Given the description of an element on the screen output the (x, y) to click on. 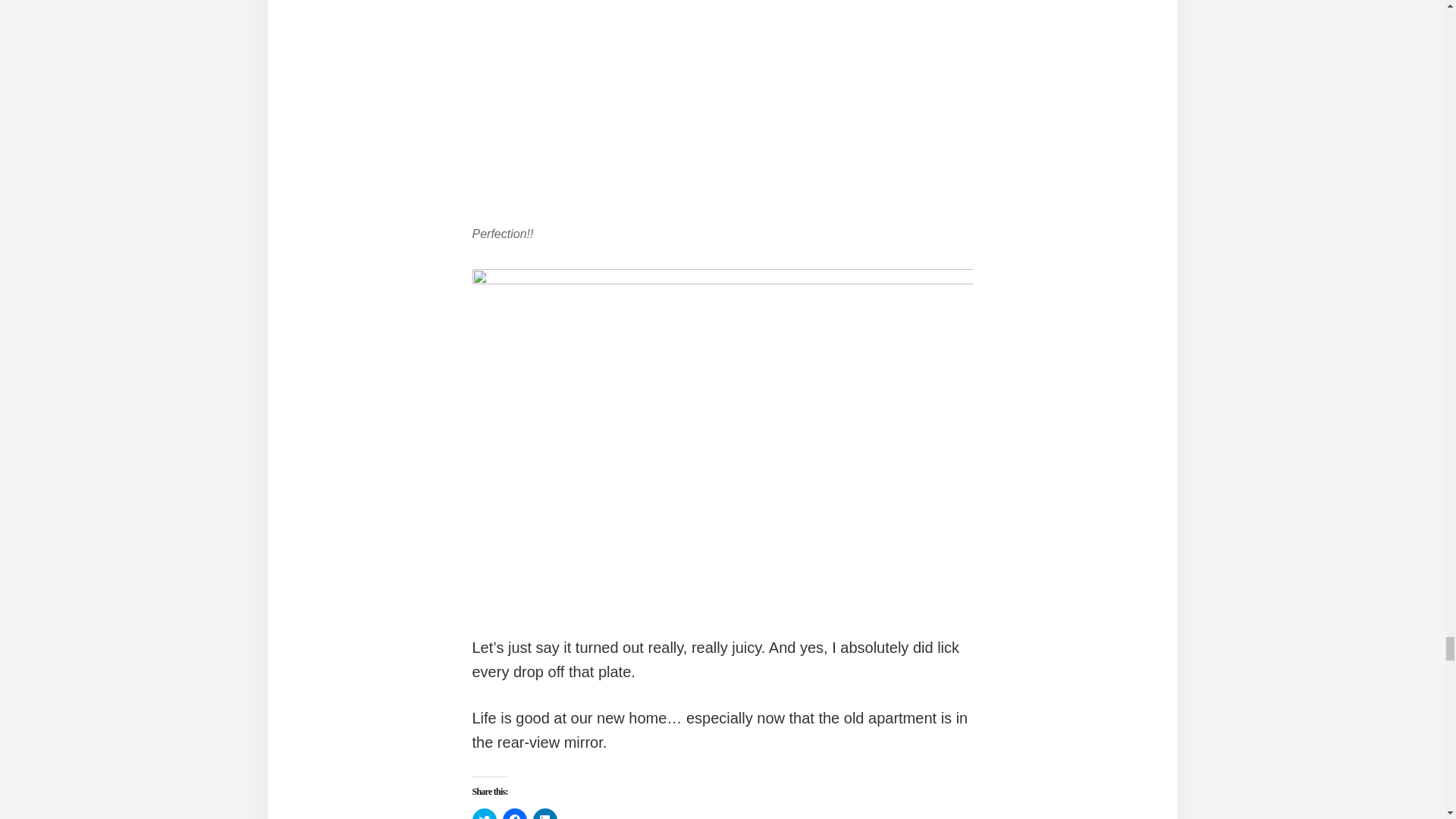
Click to share on Facebook (513, 813)
Click to share on LinkedIn (544, 813)
Click to share on Twitter (483, 813)
